Given the description of an element on the screen output the (x, y) to click on. 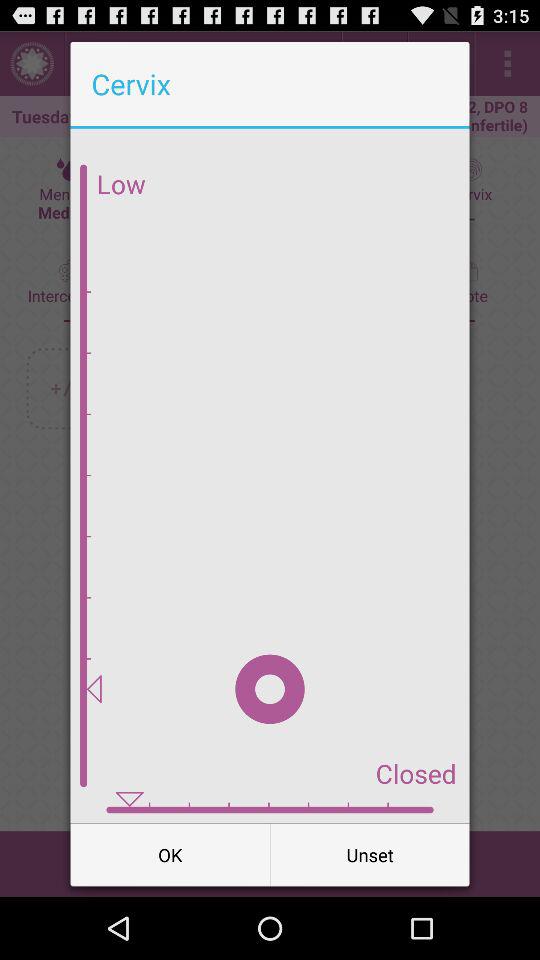
swipe to the ok icon (170, 854)
